Given the description of an element on the screen output the (x, y) to click on. 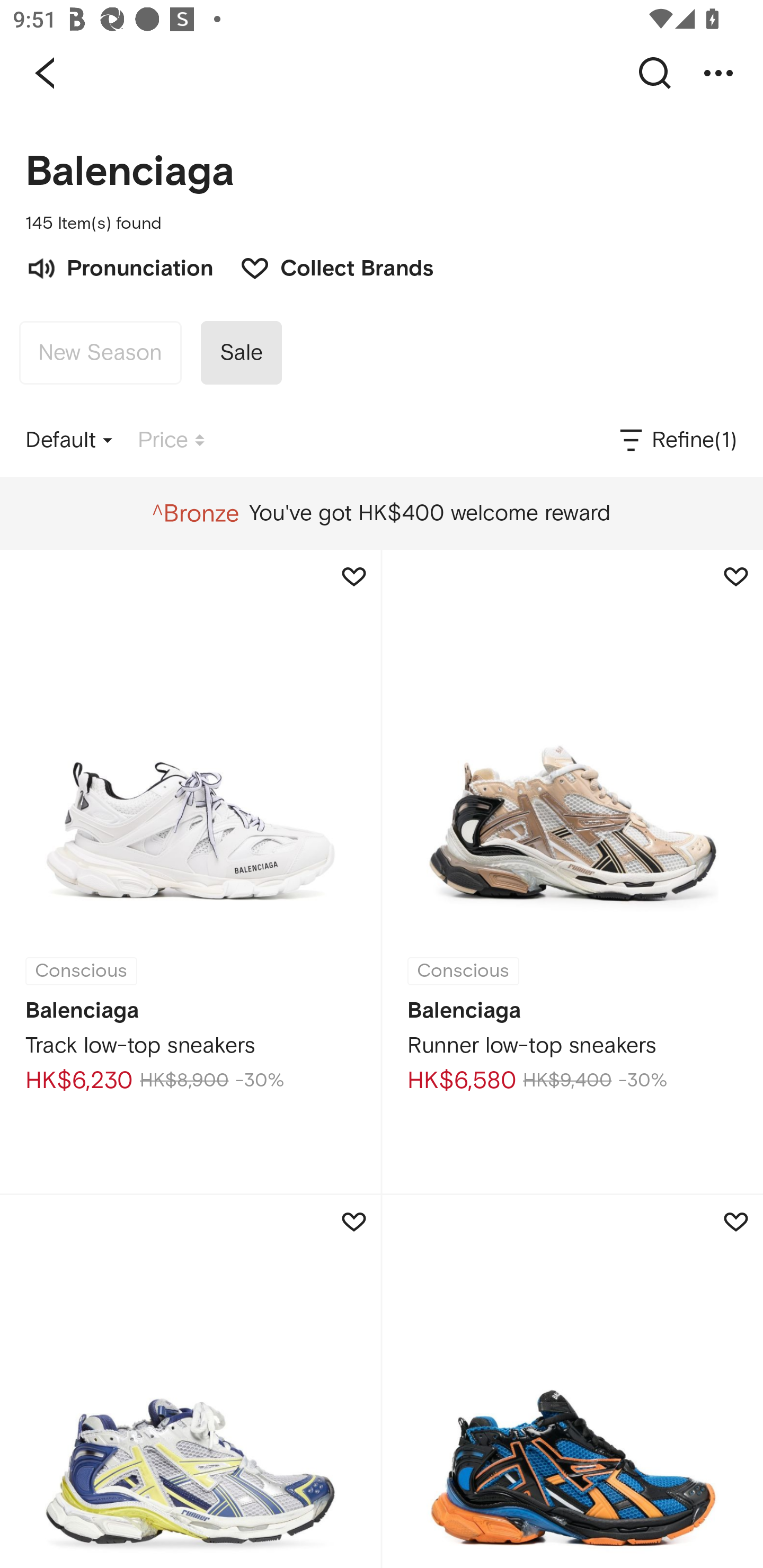
Pronunciation (119, 266)
Collect Brands (327, 266)
New Season (100, 352)
Sale (240, 352)
Default (68, 440)
Price (171, 440)
Refine(1) (677, 440)
You've got HK$400 welcome reward (381, 513)
